Given the description of an element on the screen output the (x, y) to click on. 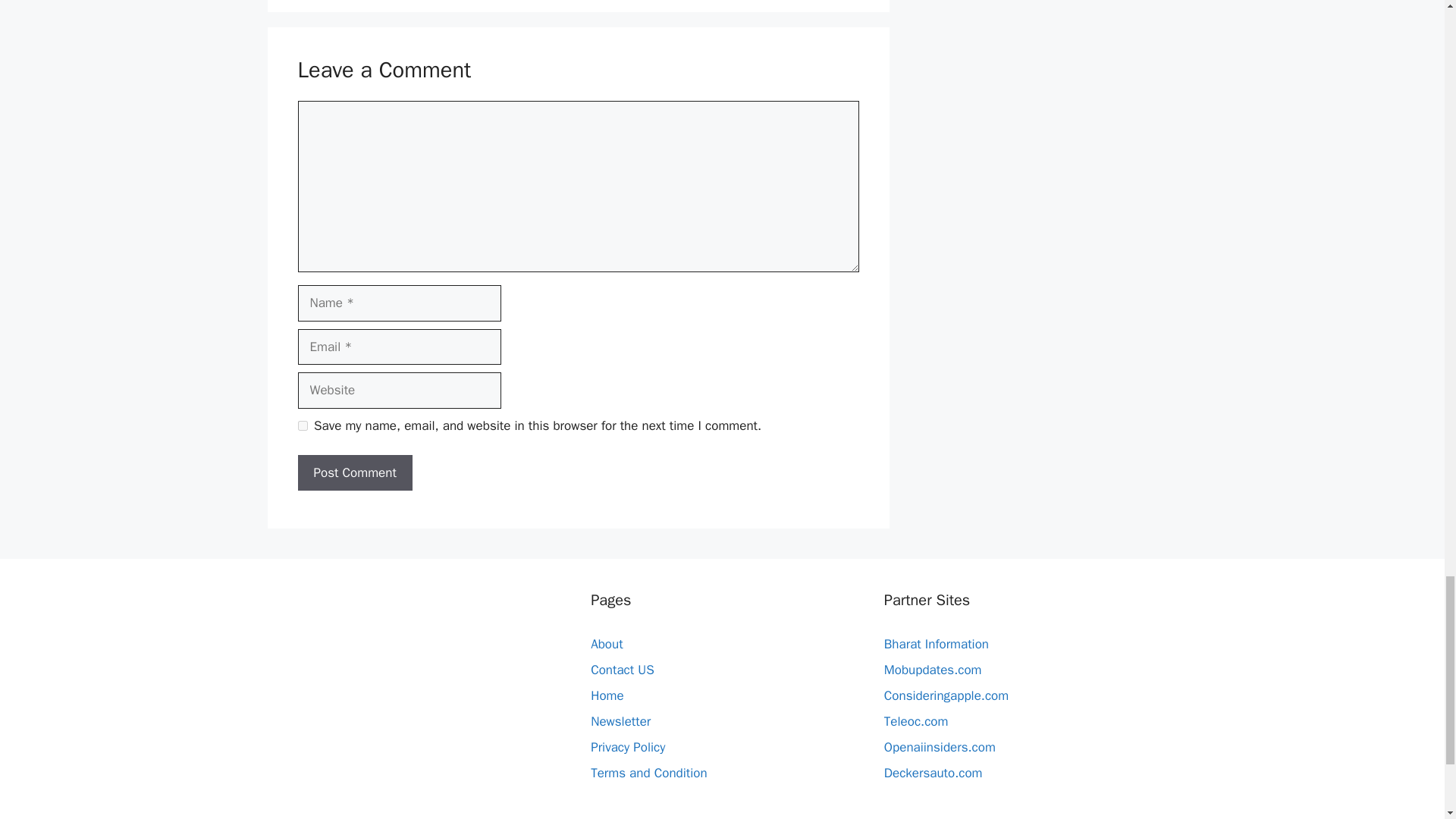
Teleoc.com (916, 721)
Privacy Policy (628, 747)
Consideringapple.com (946, 695)
Post Comment (354, 473)
Mobupdates.com (932, 669)
yes (302, 425)
About (607, 643)
Newsletter (620, 721)
Openaiinsiders.com (939, 747)
Terms and Condition (648, 772)
Home (607, 695)
Post Comment (354, 473)
Bharat Information (935, 643)
Contact US (622, 669)
